Given the description of an element on the screen output the (x, y) to click on. 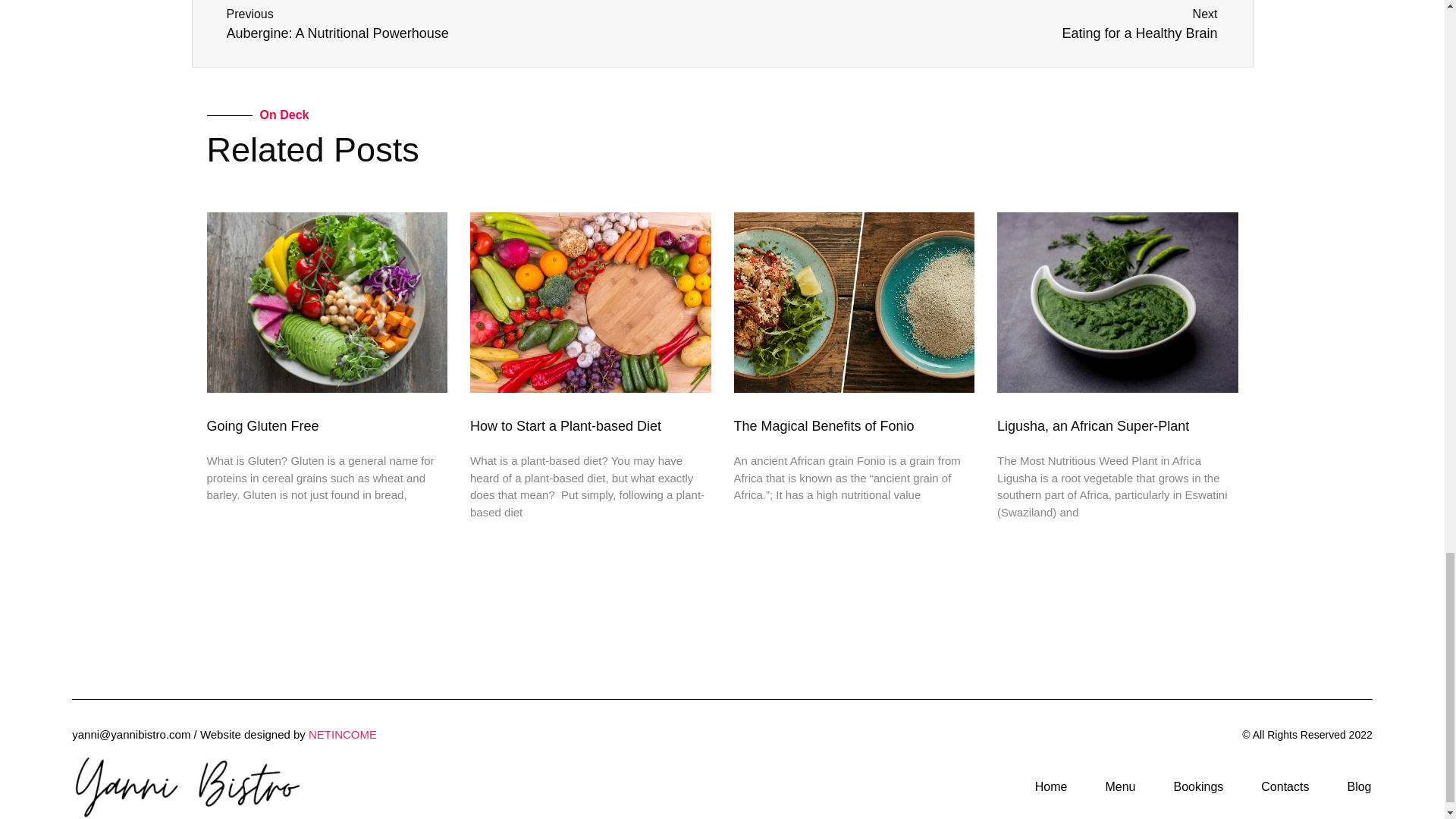
Going Gluten Free (262, 426)
Ligusha, an African Super-Plant (468, 24)
The Magical Benefits of Fonio (1093, 426)
How to Start a Plant-based Diet (823, 426)
